Given the description of an element on the screen output the (x, y) to click on. 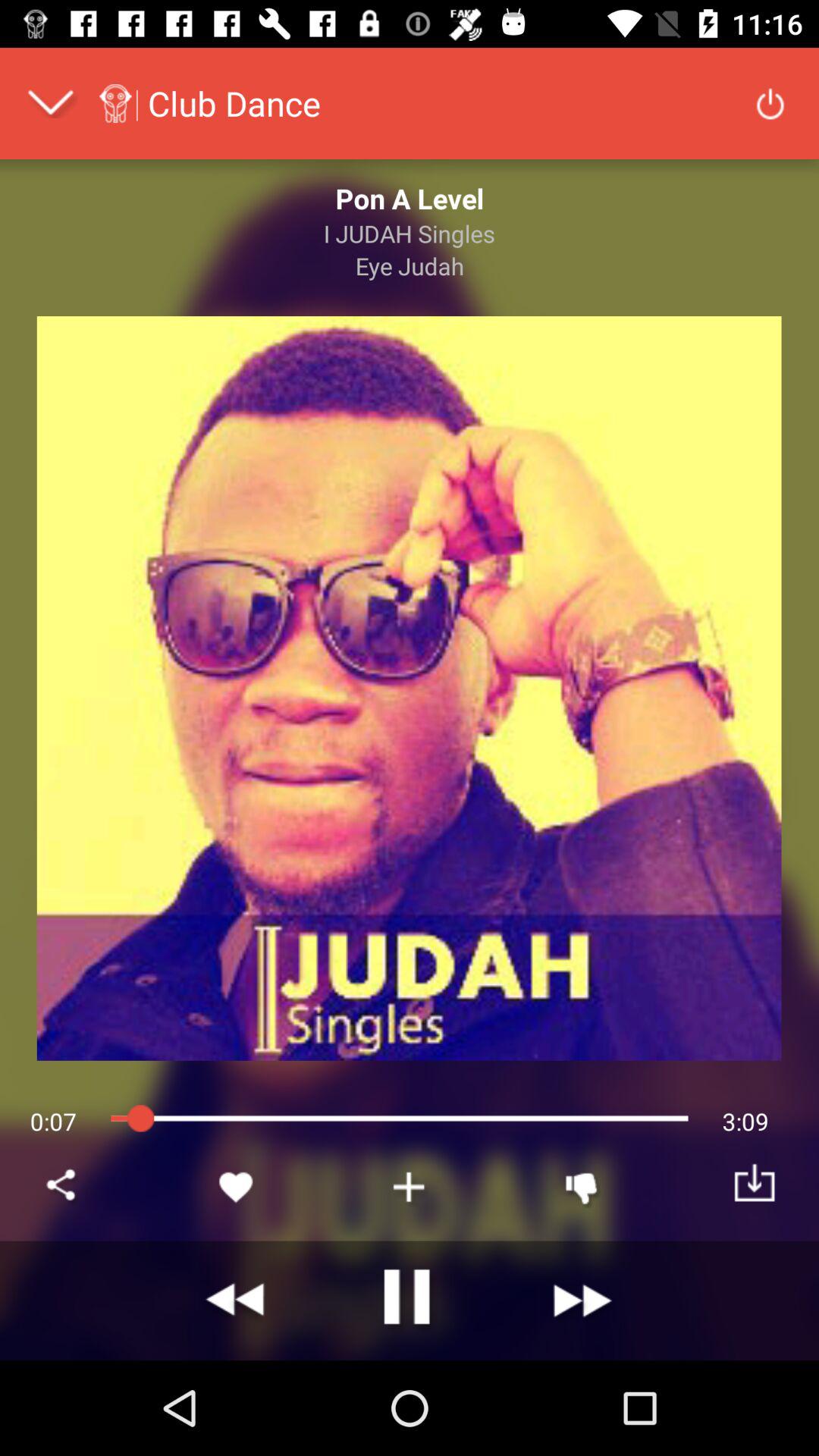
power button (770, 102)
